Given the description of an element on the screen output the (x, y) to click on. 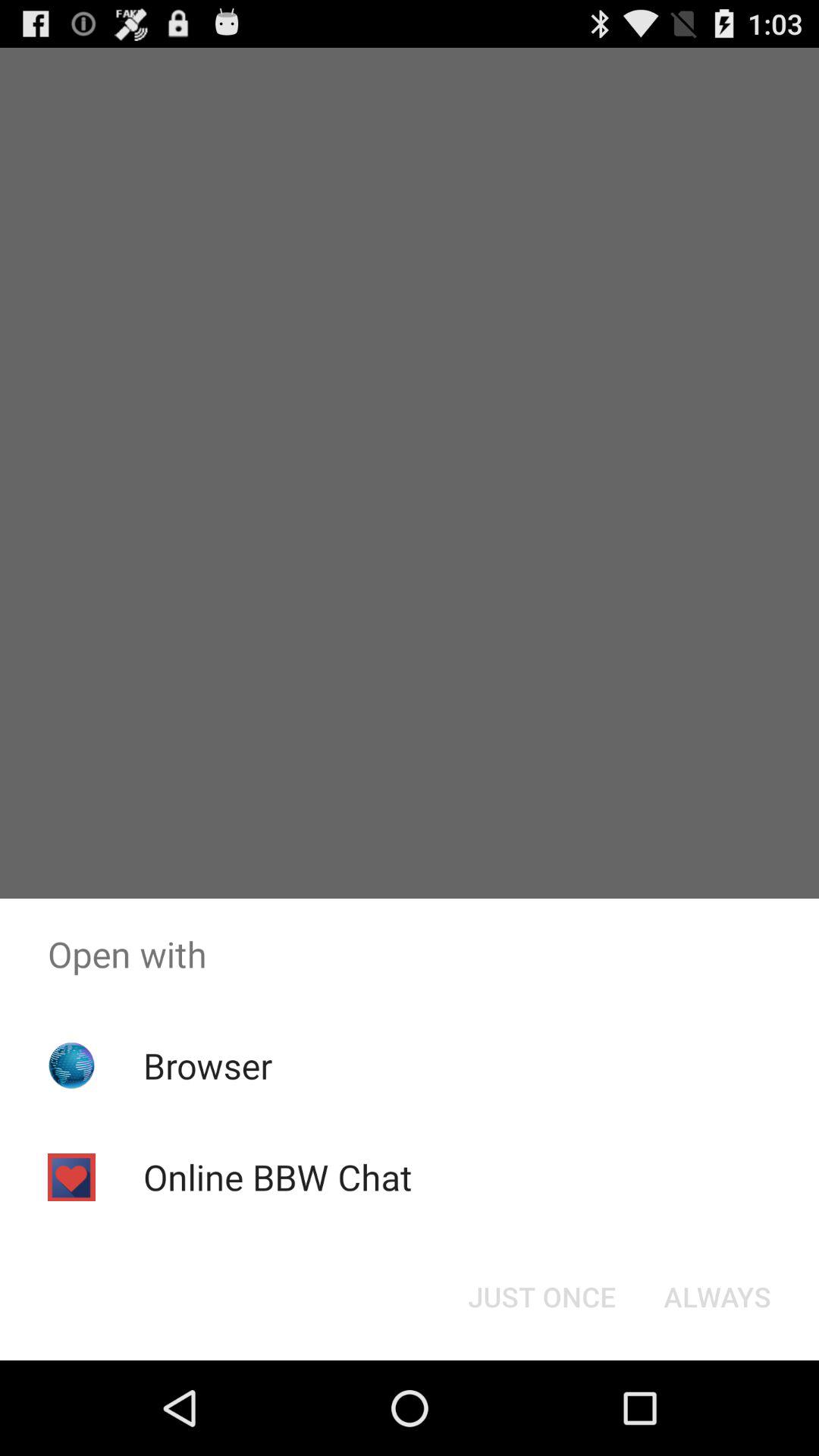
jump until browser icon (207, 1065)
